Given the description of an element on the screen output the (x, y) to click on. 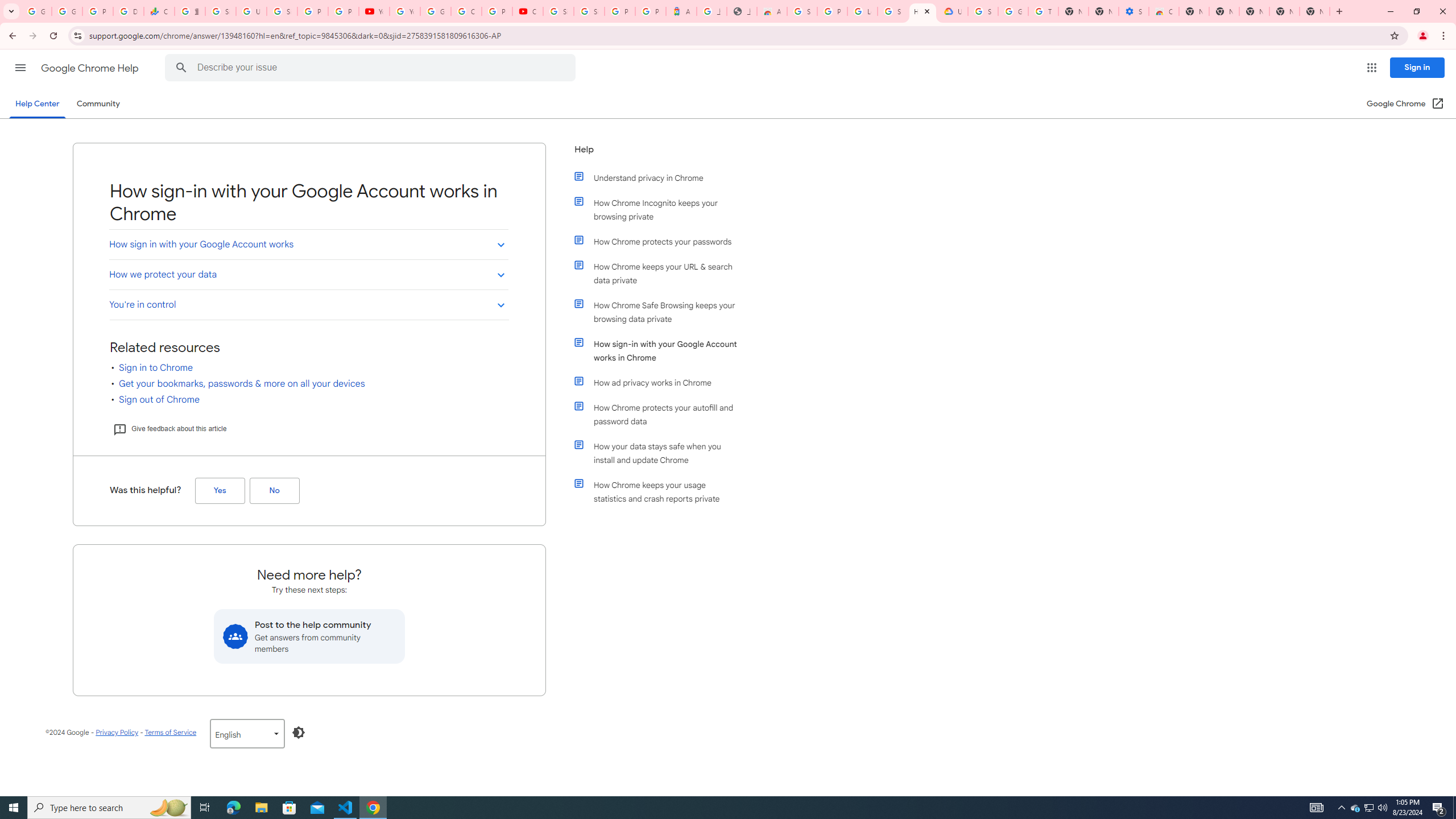
Sign in to Chrome (156, 367)
Currencies - Google Finance (158, 11)
Google Chrome (Open in a new window) (1404, 103)
Settings - Accessibility (1133, 11)
Sign in - Google Accounts (982, 11)
Search Help Center (181, 67)
Get your bookmarks, passwords & more on all your devices (242, 383)
New Tab (1193, 11)
